Given the description of an element on the screen output the (x, y) to click on. 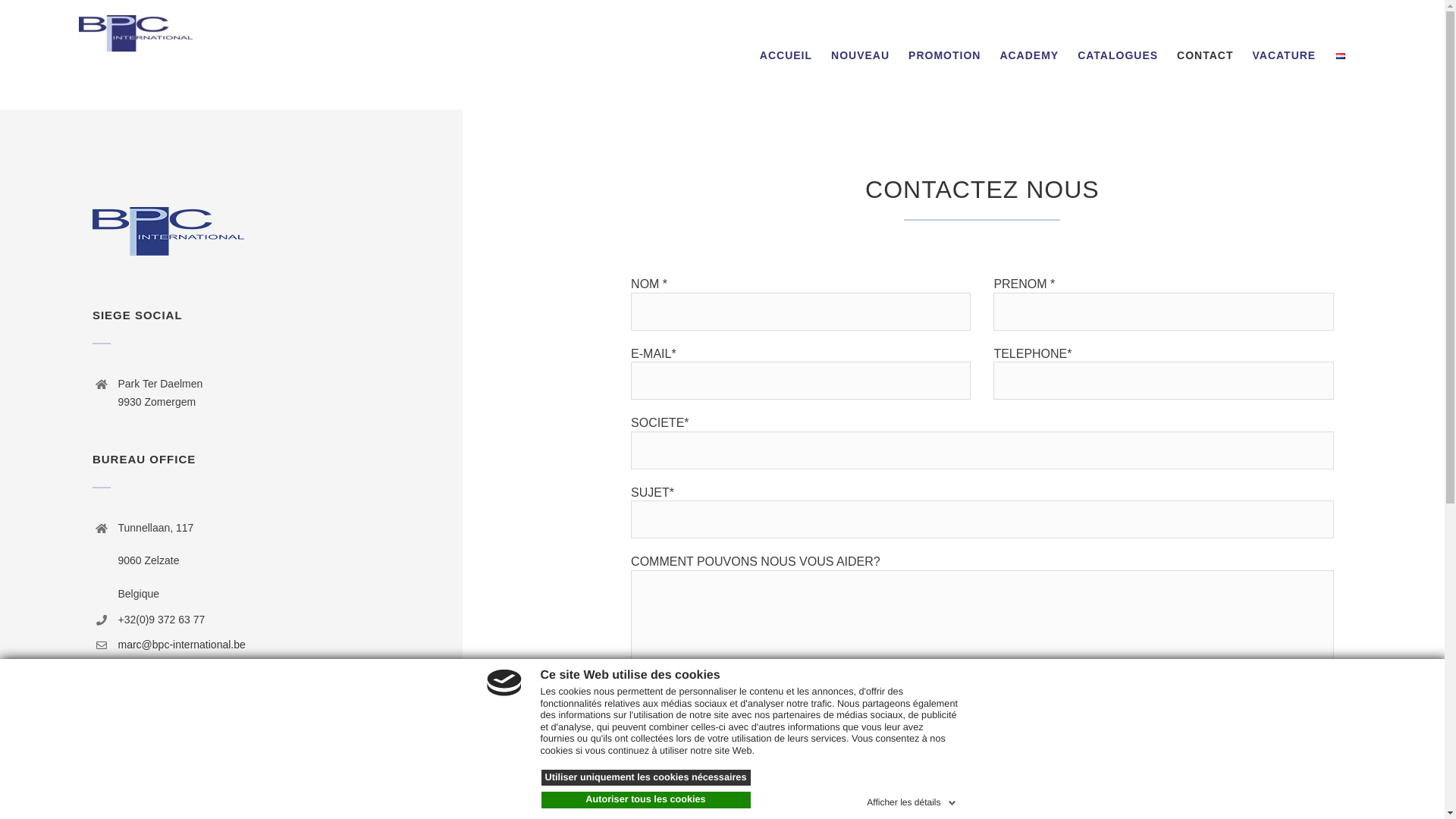
ACCUEIL Element type: text (785, 54)
PROMOTION Element type: text (944, 54)
ACADEMY Element type: text (1028, 54)
Nederlands Element type: hover (1340, 56)
CATALOGUES Element type: text (1117, 54)
CONTACT Element type: text (1204, 54)
marc@bpc-international.be Element type: text (181, 644)
NOUVEAU Element type: text (860, 54)
Autoriser tous les cookies Element type: text (645, 799)
VACATURE Element type: text (1284, 54)
logo Element type: hover (168, 231)
